Given the description of an element on the screen output the (x, y) to click on. 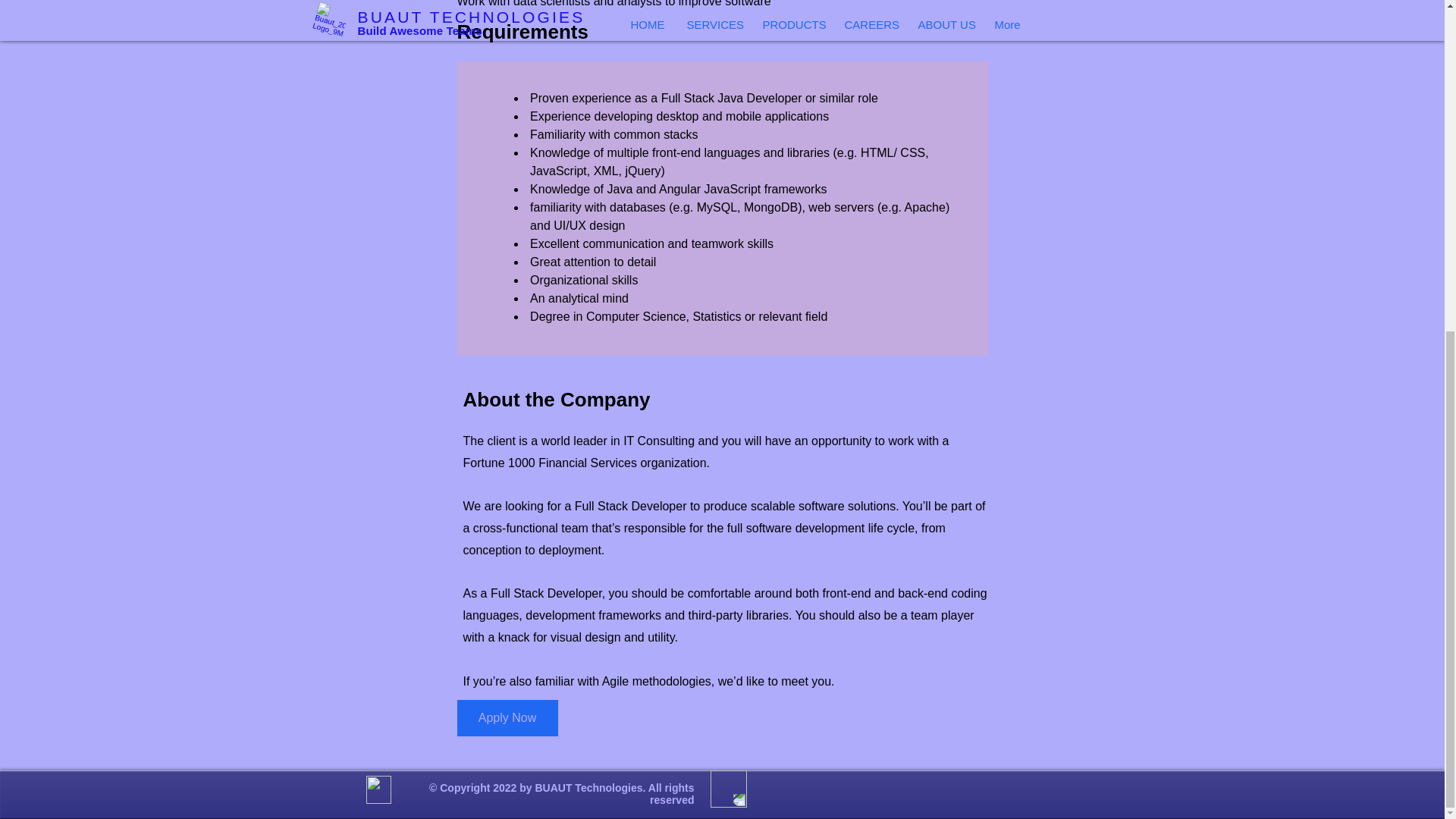
Apply Now (507, 718)
